Given the description of an element on the screen output the (x, y) to click on. 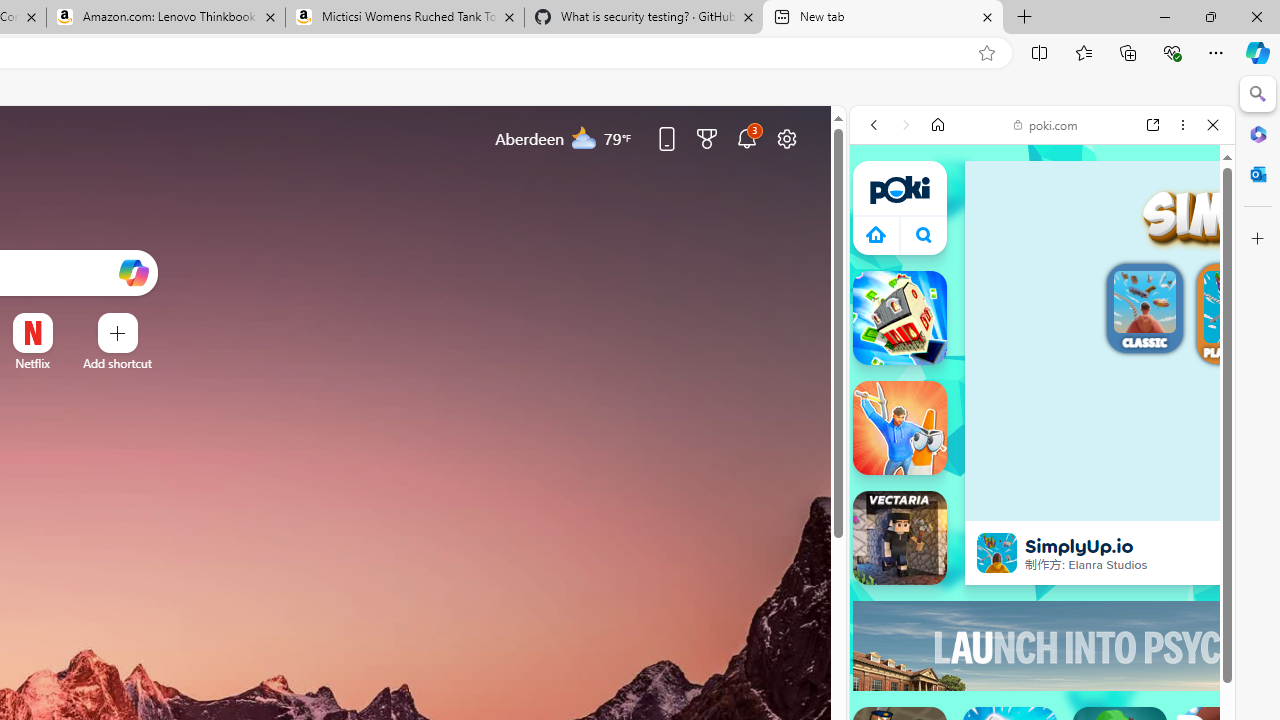
Show More Two Player Games (1164, 603)
Add a site (117, 363)
Show More Car Games (1164, 506)
Class: rounded img-fluid d-block w-100 fit-cover (1240, 307)
Class: hvLtMSipvVng82x9Seuh (997, 552)
Io Games (1042, 651)
